Given the description of an element on the screen output the (x, y) to click on. 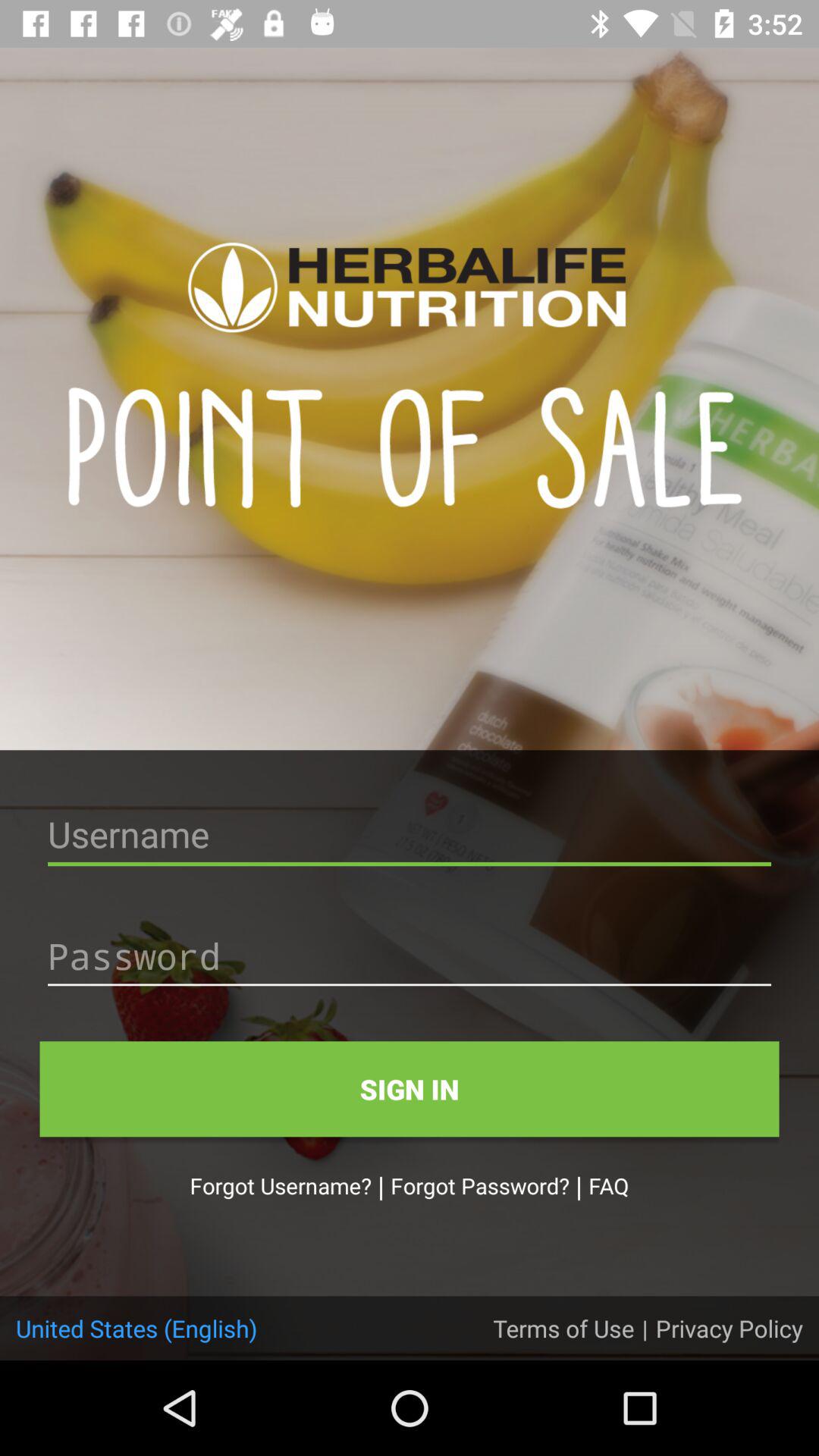
turn on the item above the forgot username? icon (409, 1088)
